Given the description of an element on the screen output the (x, y) to click on. 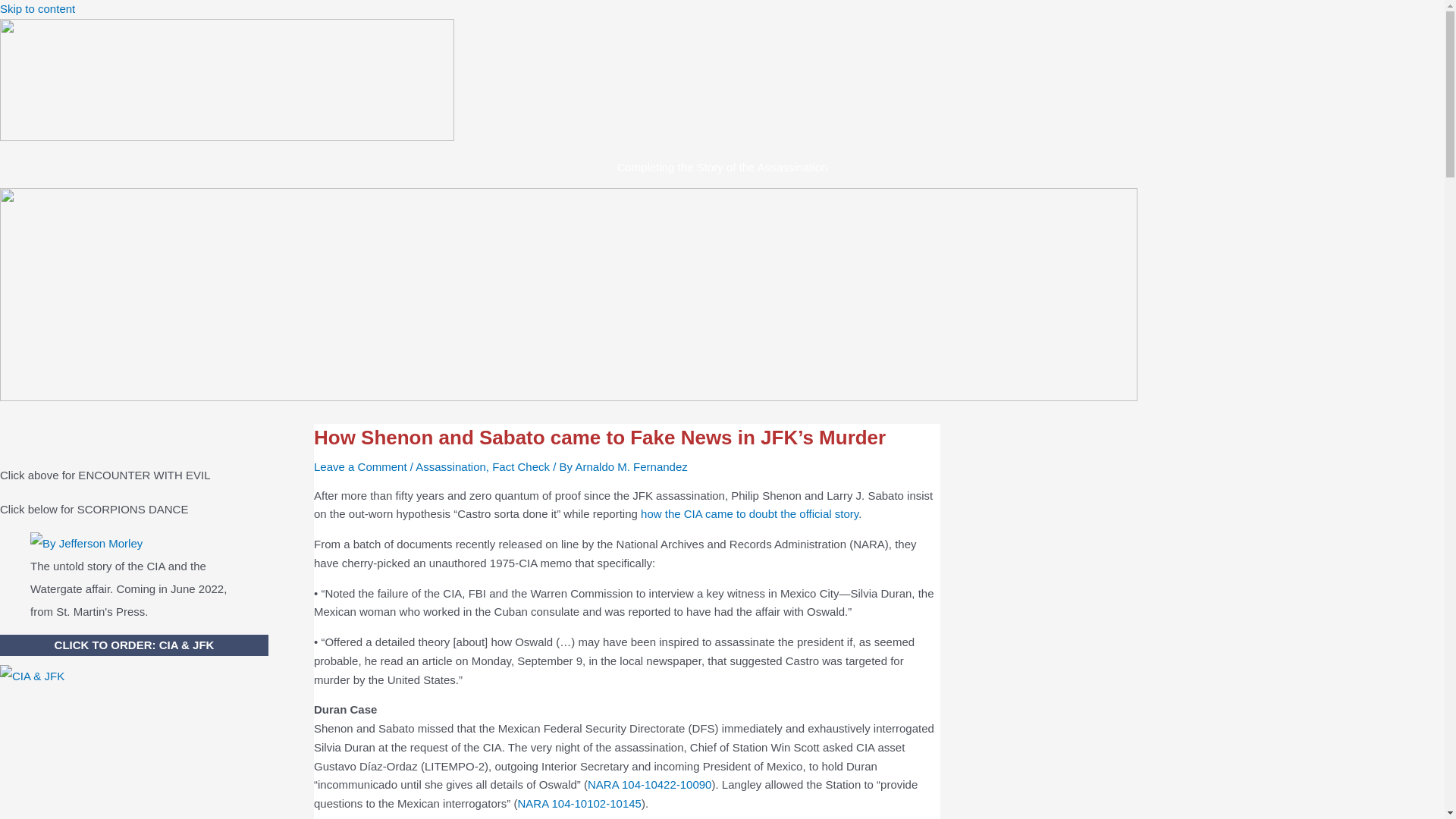
Arnaldo M. Fernandez (631, 466)
Fact Check (521, 466)
Completing the Story of the Assassination (722, 166)
View all posts by Arnaldo M. Fernandez (631, 466)
NARA 104-10422-10090 (649, 784)
NARA 104-10102-10145 (578, 802)
Skip to content (37, 8)
Assassination (450, 466)
Leave a Comment (360, 466)
how the CIA came to doubt the official story (749, 513)
